Given the description of an element on the screen output the (x, y) to click on. 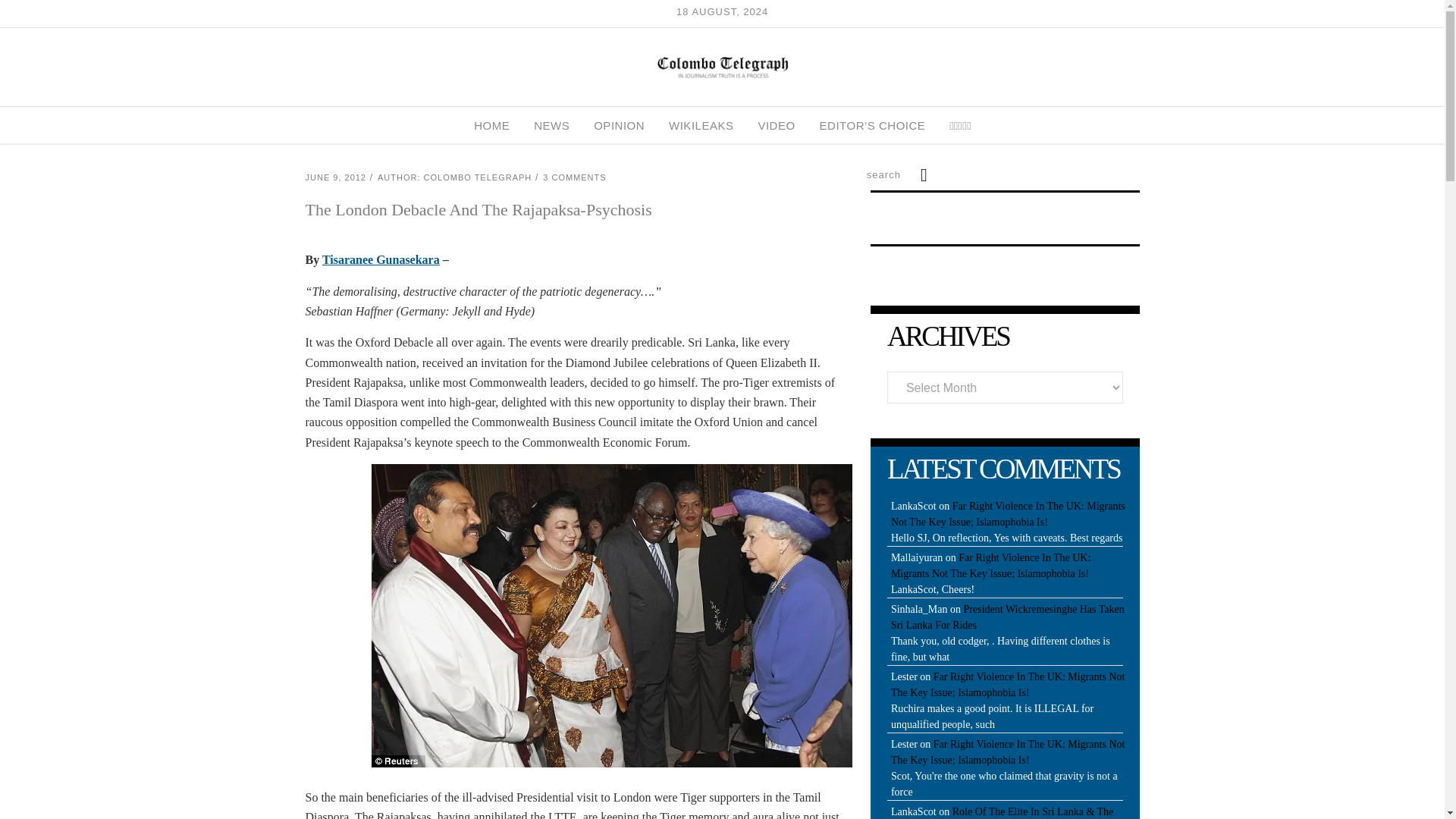
NEWS (550, 125)
3 COMMENTS (574, 176)
HOME (491, 125)
VIDEO (775, 125)
AUTHOR: COLOMBO TELEGRAPH (454, 176)
OPINION (618, 125)
WIKILEAKS (700, 125)
JUNE 9, 2012 (334, 176)
Tisaranee Gunasekara (380, 259)
